Given the description of an element on the screen output the (x, y) to click on. 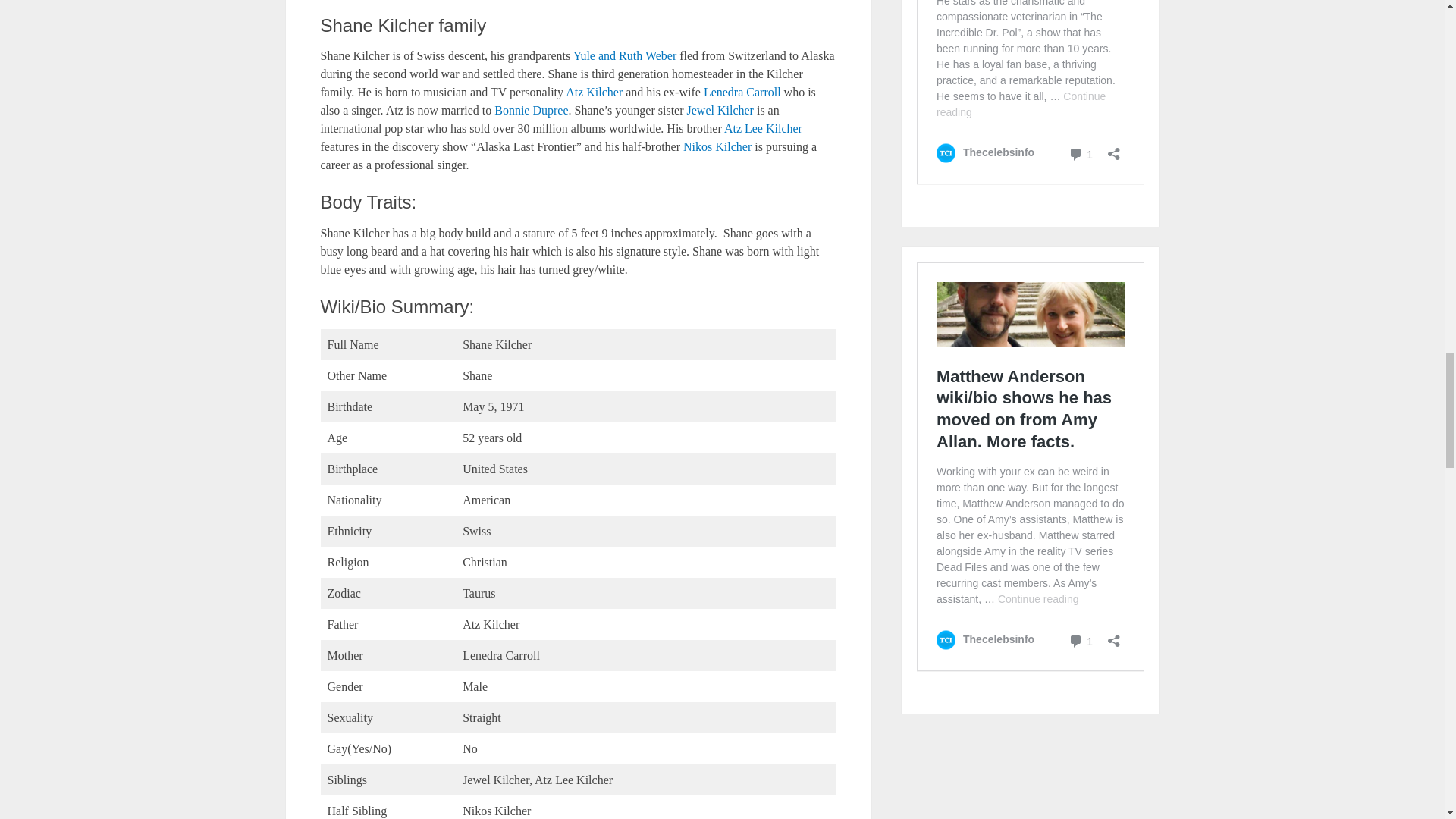
Bonnie Dupree (531, 110)
Nikos Kilcher (716, 146)
Atz Lee Kilcher (762, 128)
Lenedra Carroll (741, 91)
Yule and Ruth Weber (625, 55)
Atz Kilcher (594, 91)
Jewel Kilcher (720, 110)
